Given the description of an element on the screen output the (x, y) to click on. 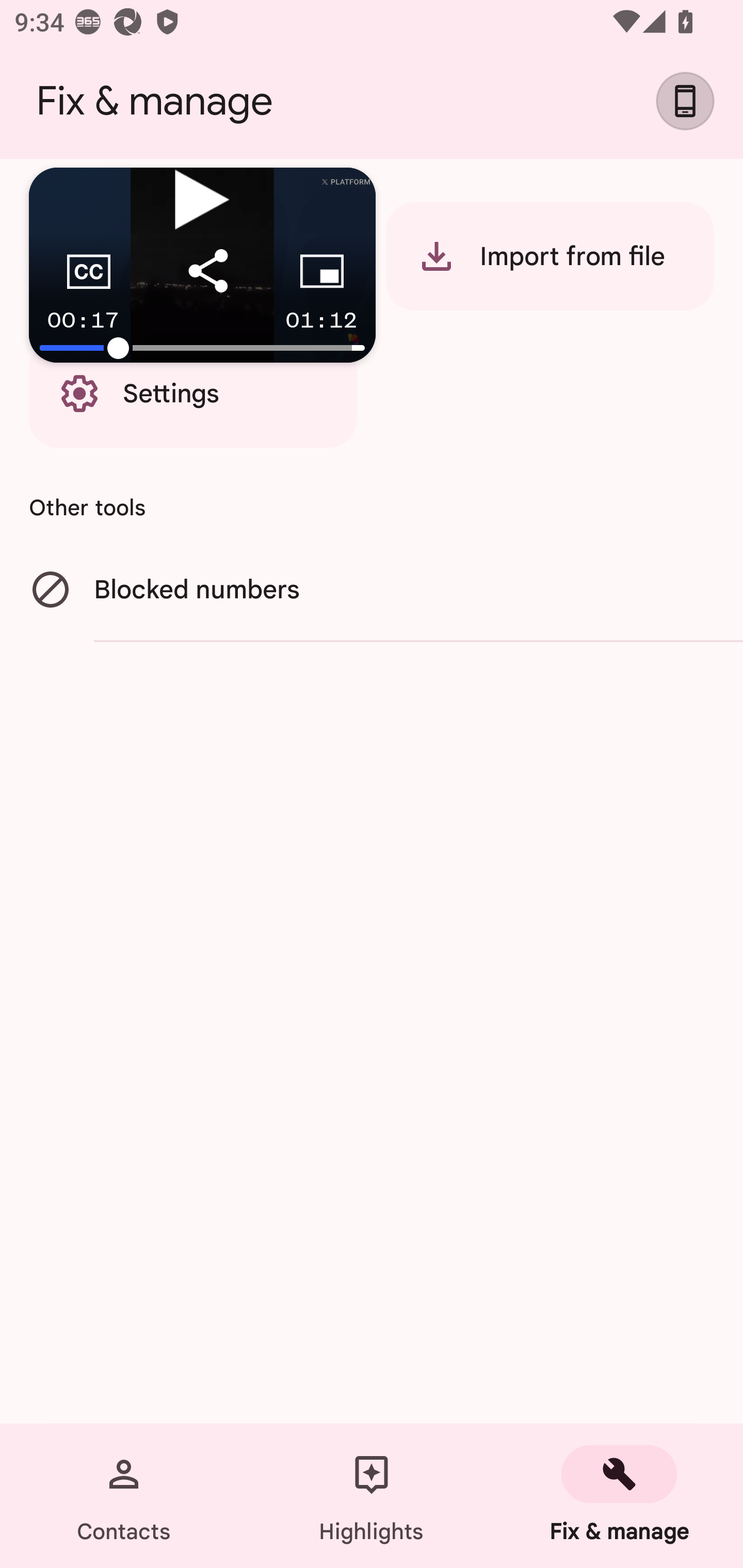
Signed in as Device
Account and settings. (692, 101)
Import from file (549, 256)
Settings (192, 393)
Blocked numbers (371, 590)
Contacts (123, 1495)
Highlights (371, 1495)
